Given the description of an element on the screen output the (x, y) to click on. 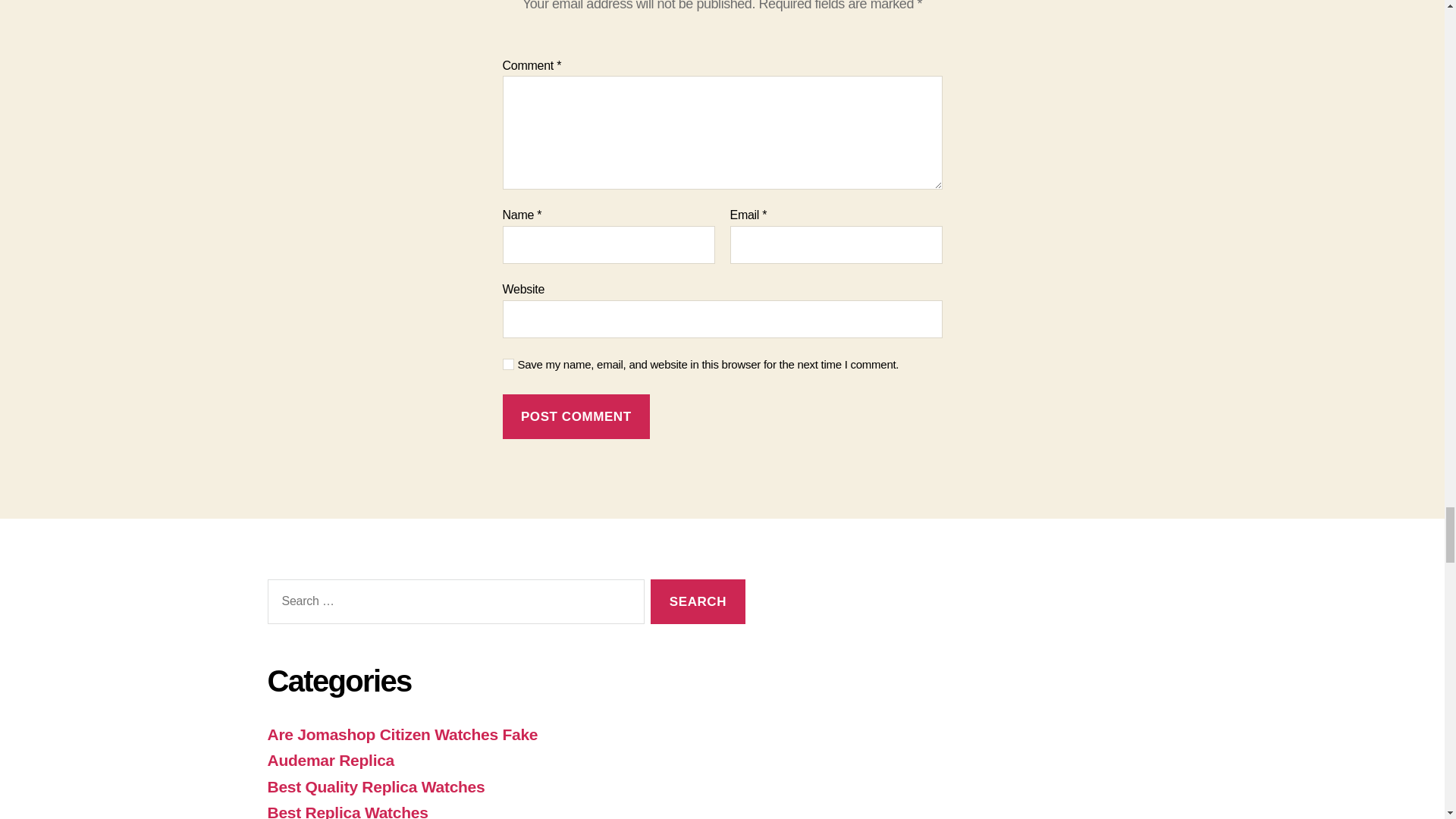
Post Comment (575, 415)
Search (697, 601)
Search (697, 601)
yes (507, 364)
Audemar Replica (330, 760)
Search (697, 601)
Post Comment (575, 415)
Best Quality Replica Watches (375, 786)
Best Replica Watches (347, 811)
Are Jomashop Citizen Watches Fake (401, 733)
